Given the description of an element on the screen output the (x, y) to click on. 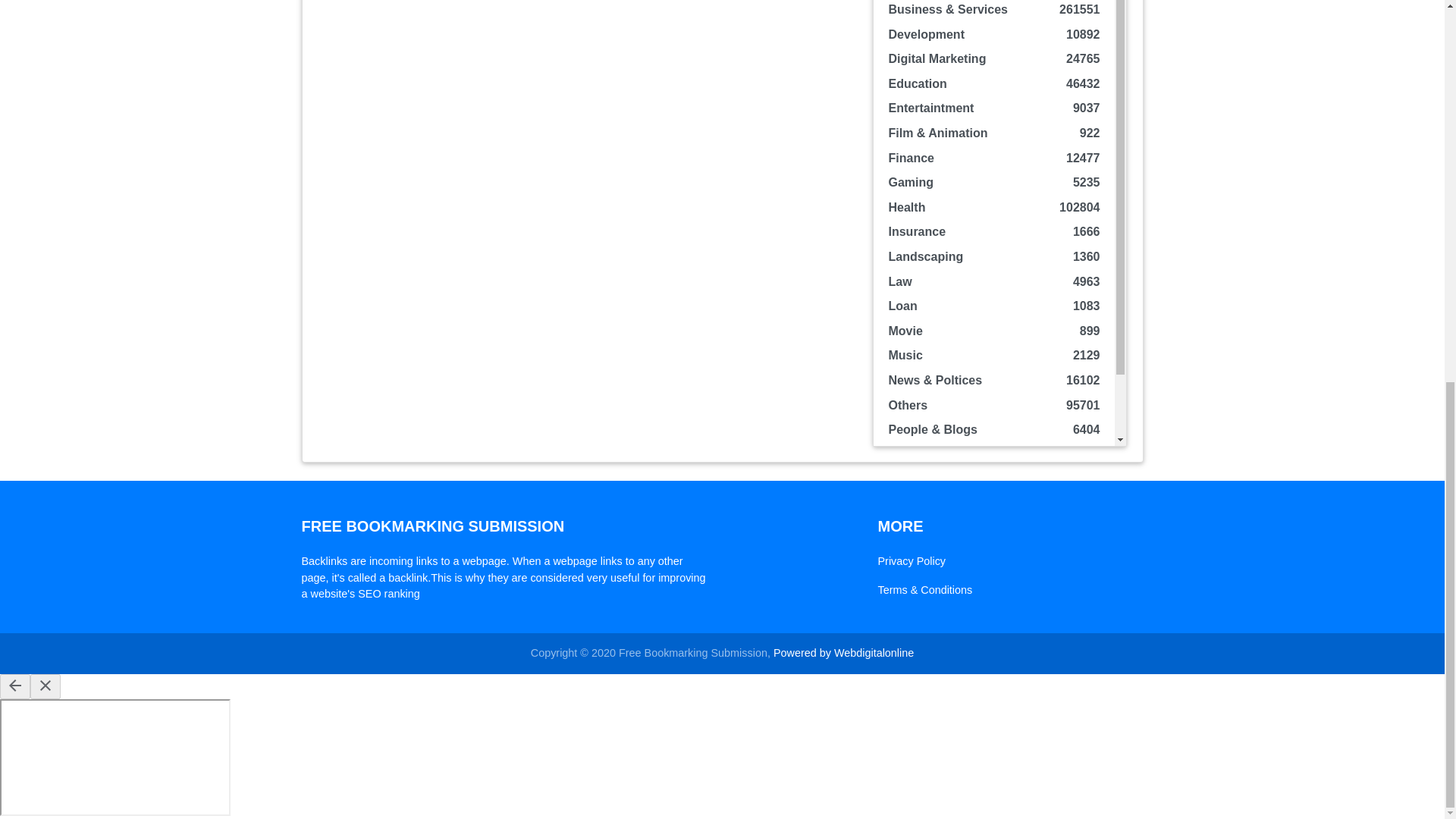
Advertisement (582, 109)
